Given the description of an element on the screen output the (x, y) to click on. 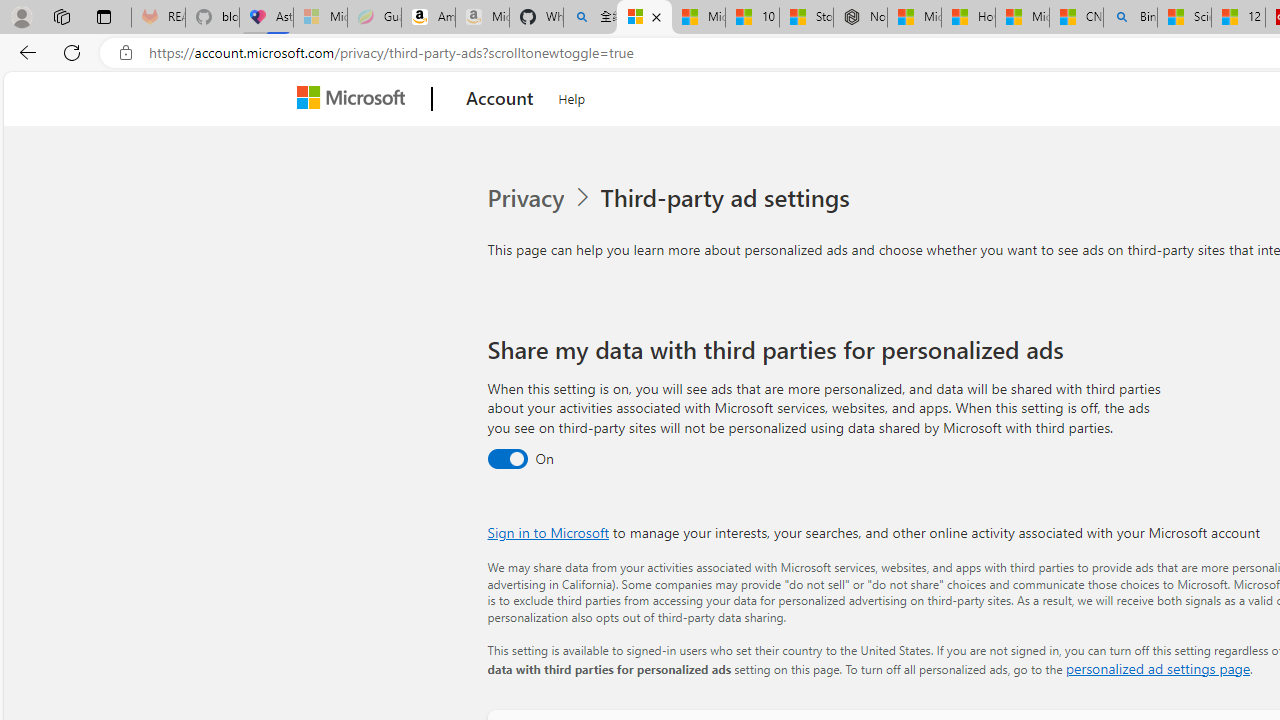
How I Got Rid of Microsoft Edge's Unnecessary Features (968, 17)
Asthma Inhalers: Names and Types (266, 17)
Nordace - Nordace Siena Is Not An Ordinary Backpack (860, 17)
Account (499, 99)
Help (572, 96)
Stocks - MSN (806, 17)
Bing (1130, 17)
